Given the description of an element on the screen output the (x, y) to click on. 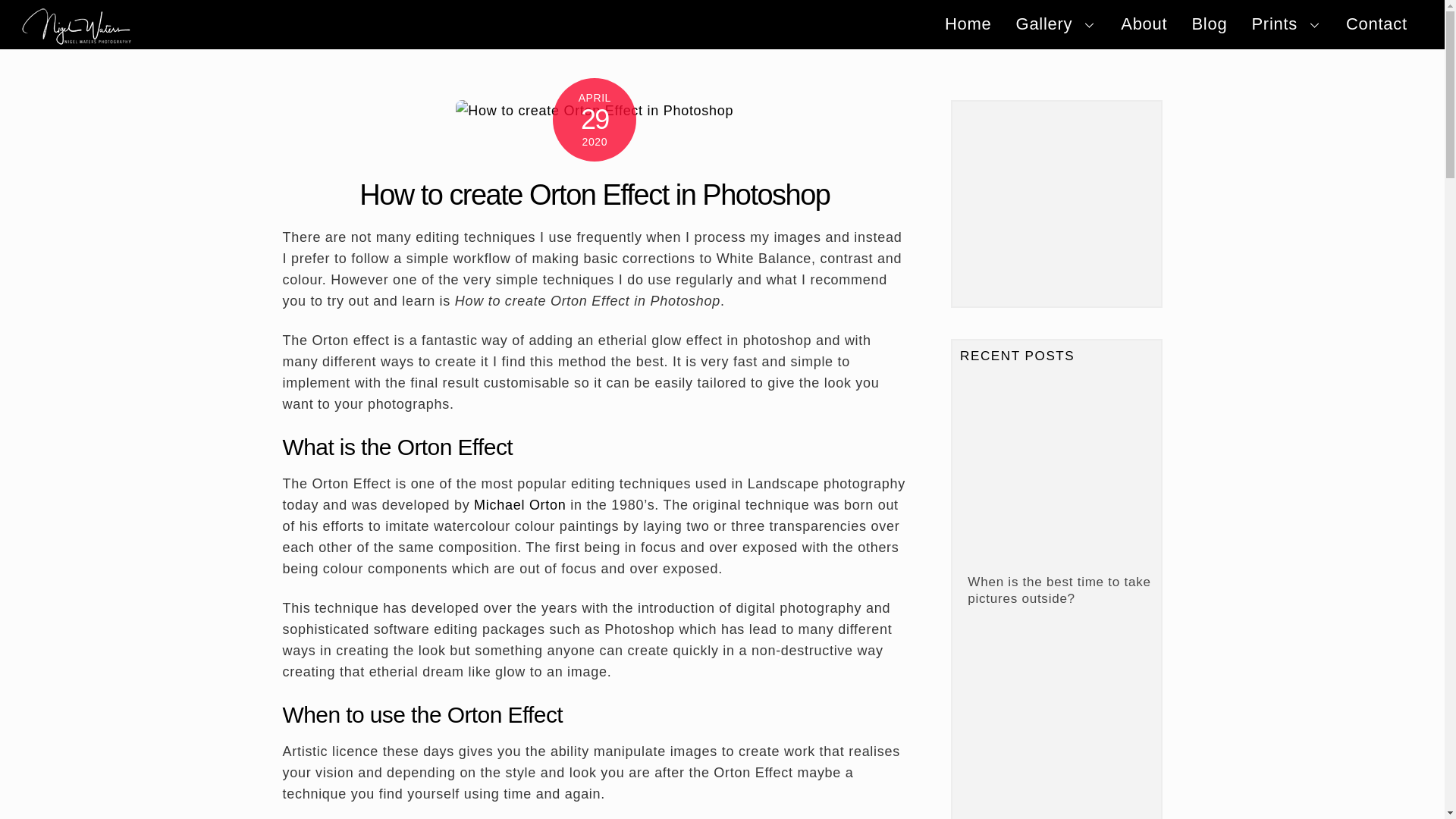
Blog (1208, 24)
How to create Orton Effect in Photoshop (594, 110)
Gallery (1056, 24)
Home (967, 24)
When is the best time to take pictures outside? (1054, 472)
Camera Lens Hoods: Why When How to use them (1054, 729)
How to create Orton Effect in Photoshop (594, 194)
Nigel Waters Photography - UK Landscape Photographer (76, 38)
Prints (722, 24)
